Given the description of an element on the screen output the (x, y) to click on. 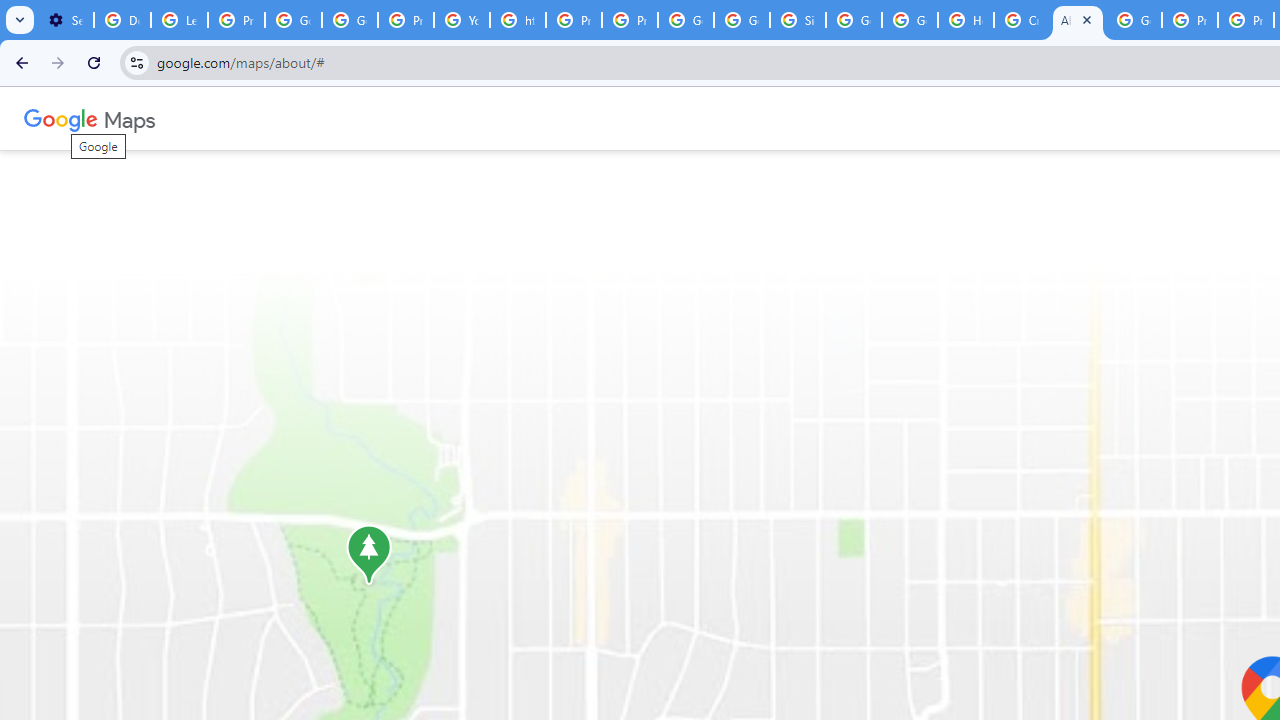
Forward (57, 62)
Learn how to find your photos - Google Photos Help (179, 20)
Privacy Help Center - Policies Help (1190, 20)
Sign in - Google Accounts (797, 20)
Maps (129, 118)
Skip to Content (264, 115)
Privacy Help Center - Policies Help (573, 20)
Delete photos & videos - Computer - Google Photos Help (122, 20)
Close (1086, 19)
View site information (136, 62)
Create your Google Account (1021, 20)
System (10, 11)
Reload (93, 62)
